Given the description of an element on the screen output the (x, y) to click on. 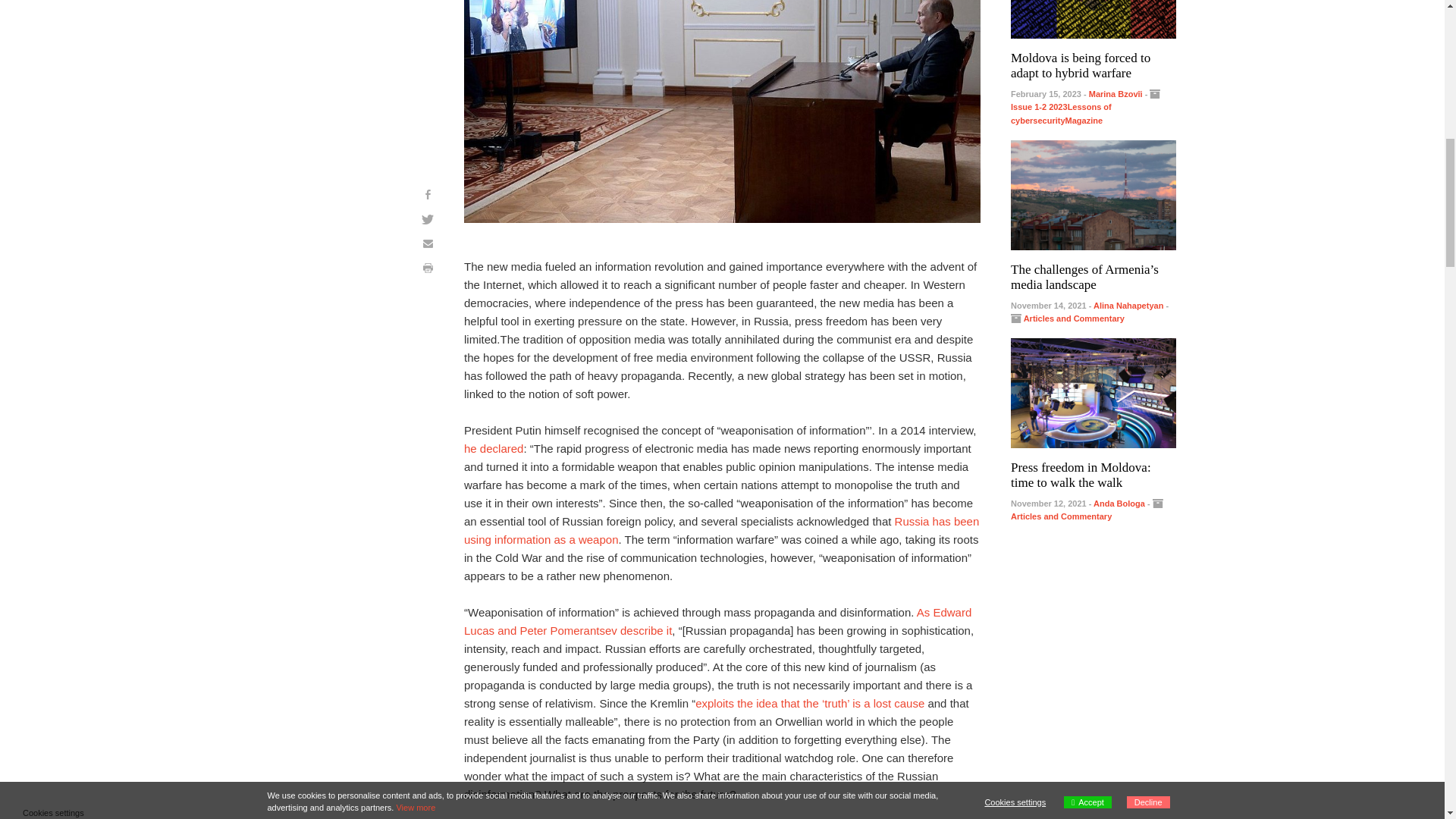
Press freedom in Moldova: time to walk the walk (1080, 474)
Moldova is being forced to adapt to hybrid warfare (1080, 65)
As Edward Lucas and Peter Pomerantsev describe it (717, 621)
Russia has been using information as a weapon (721, 530)
Press freedom in Moldova: time to walk the walk (1093, 391)
he declared (493, 448)
